Given the description of an element on the screen output the (x, y) to click on. 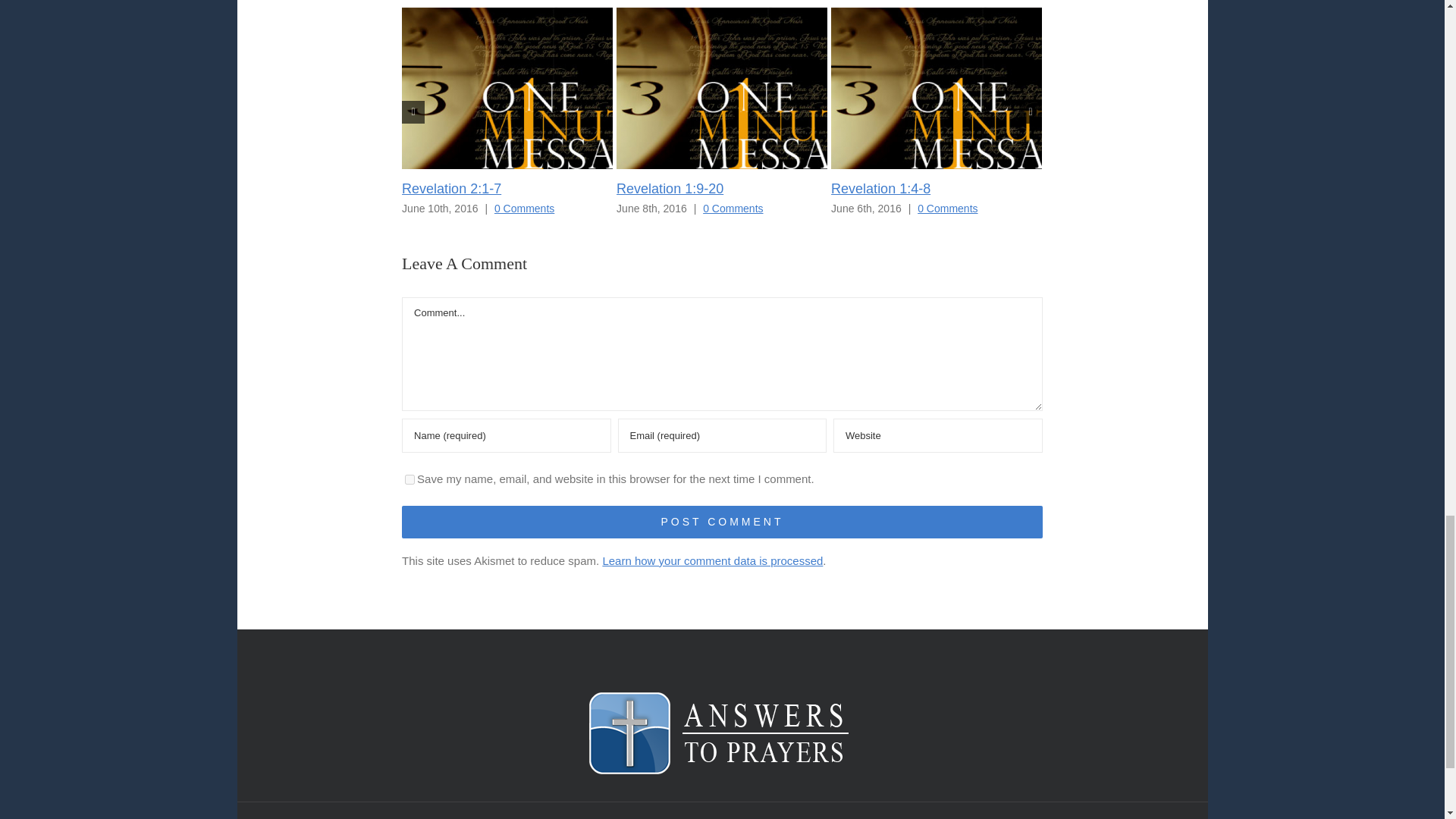
0 Comments (524, 207)
yes (409, 479)
Post Comment (721, 522)
0 Comments (732, 207)
Revelation 1:9-20 (669, 188)
Revelation 2:1-7 (450, 188)
0 Comments (946, 207)
Revelation 1:4-8 (880, 188)
